Given the description of an element on the screen output the (x, y) to click on. 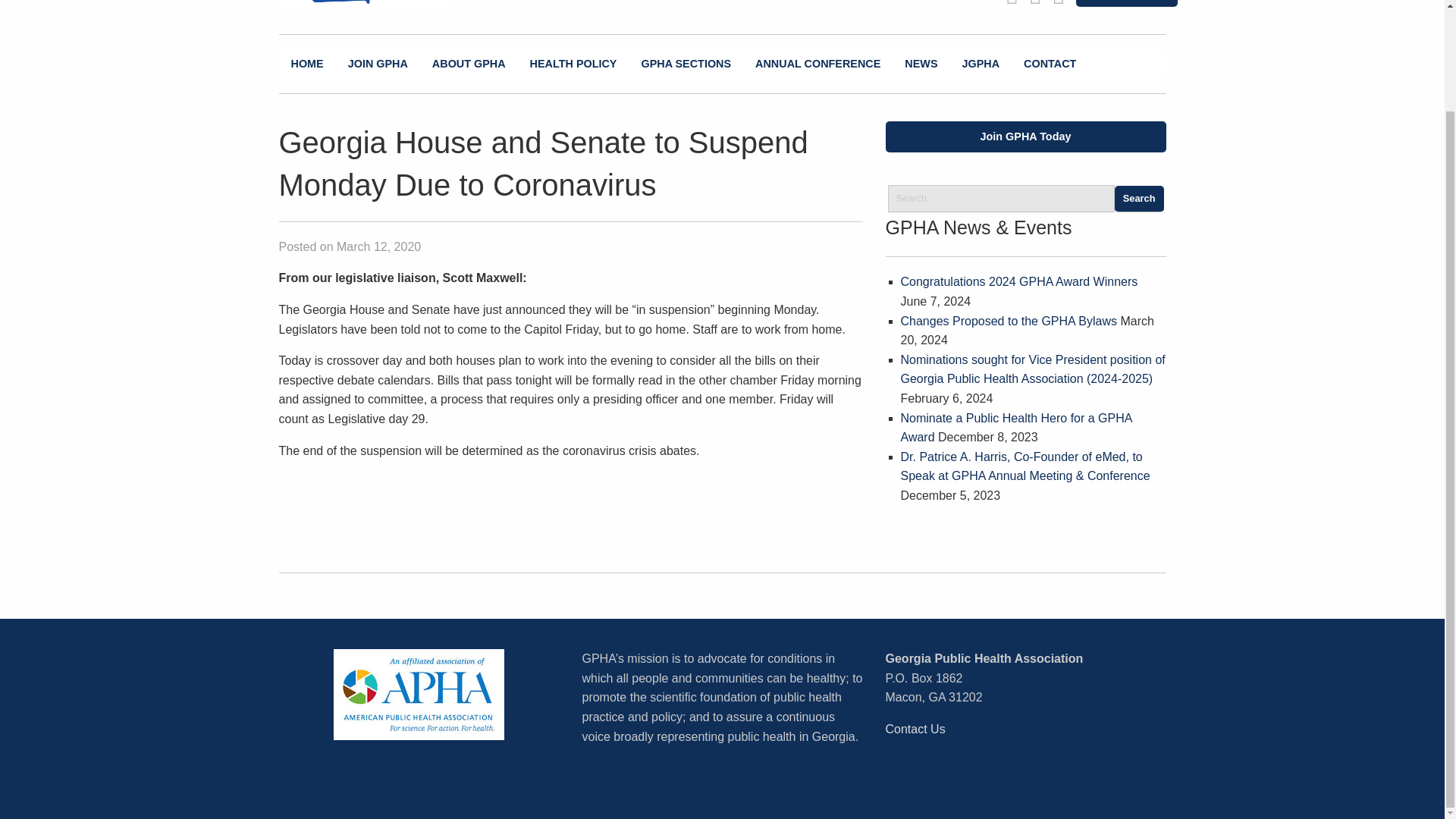
HEALTH POLICY (573, 63)
Join GPHA Today (1025, 136)
Search (1139, 198)
NEWS (920, 63)
Contact Us (914, 728)
CONTACT (1049, 63)
GPHA: Georgia Public Health Association (381, 5)
Member Log In (1125, 3)
ABOUT GPHA (469, 63)
HOME (307, 63)
ANNUAL CONFERENCE (817, 63)
Nominate a Public Health Hero for a GPHA Award (1016, 427)
GPHA SECTIONS (685, 63)
Search (1139, 198)
Changes Proposed to the GPHA Bylaws (1009, 320)
